Given the description of an element on the screen output the (x, y) to click on. 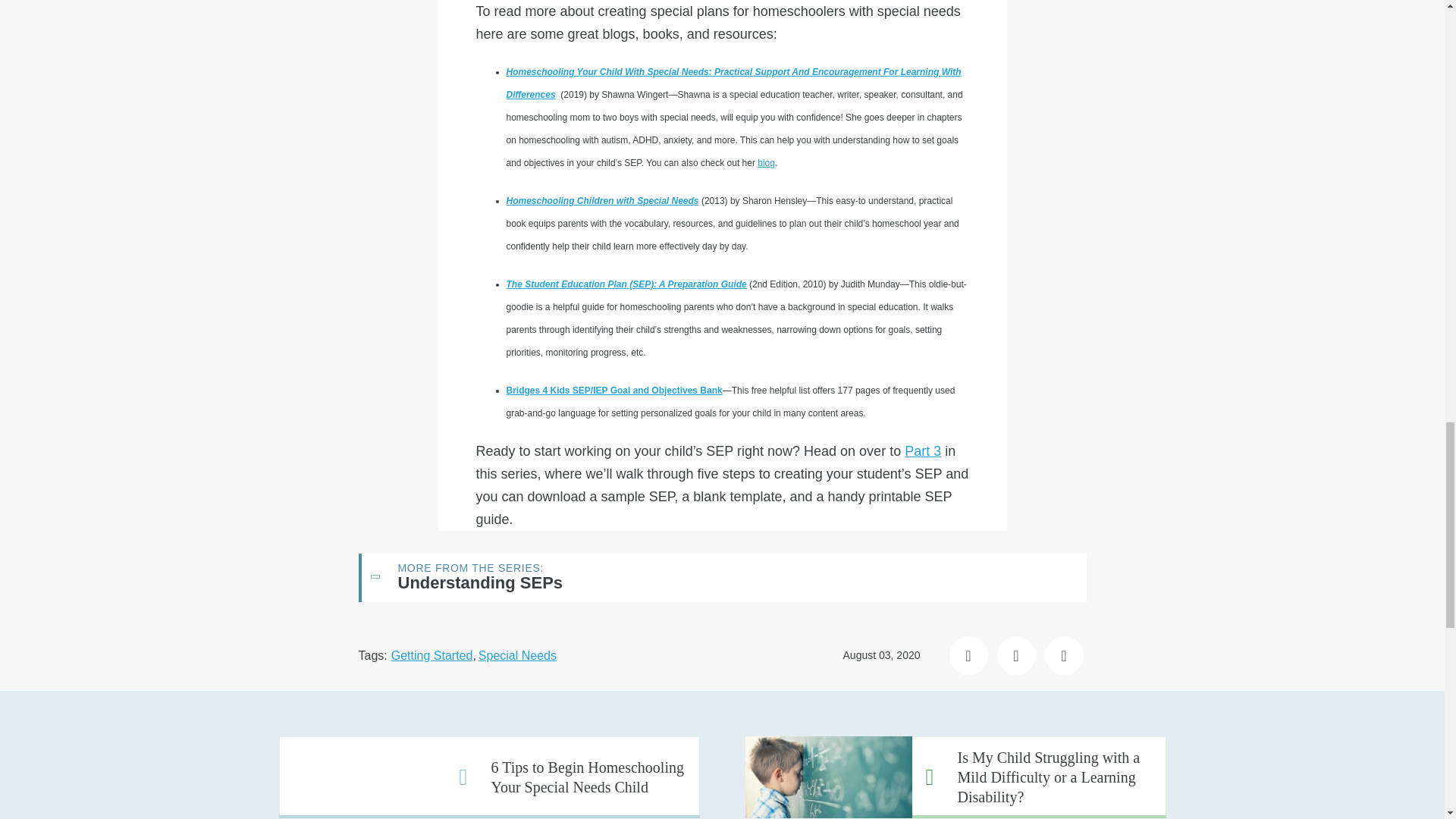
Special Needs (517, 655)
Part 3 (922, 450)
Homeschooling Children with Special Needs (602, 200)
blog (765, 163)
Getting Started (432, 655)
